Given the description of an element on the screen output the (x, y) to click on. 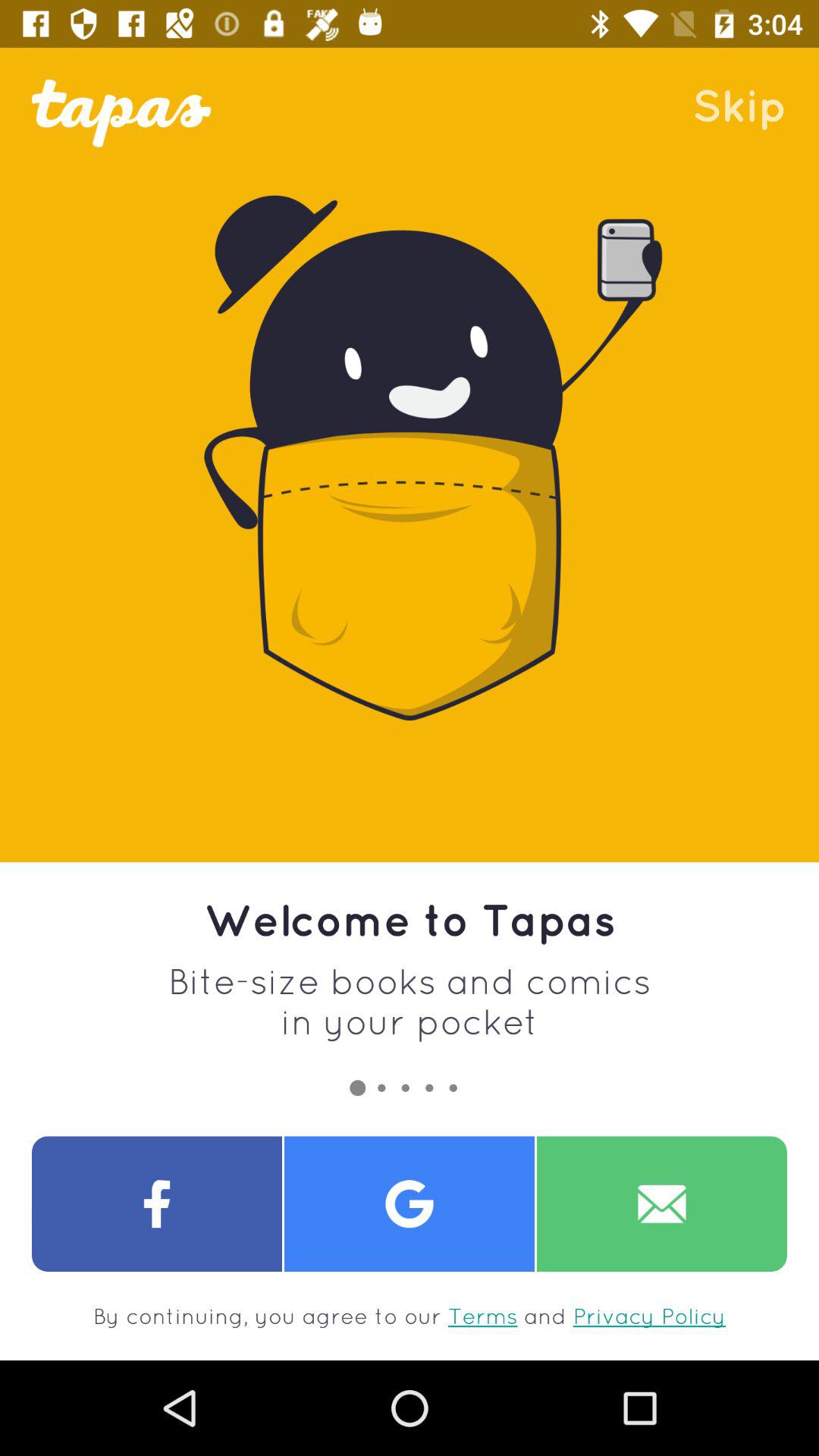
swipe to the skip item (739, 104)
